Given the description of an element on the screen output the (x, y) to click on. 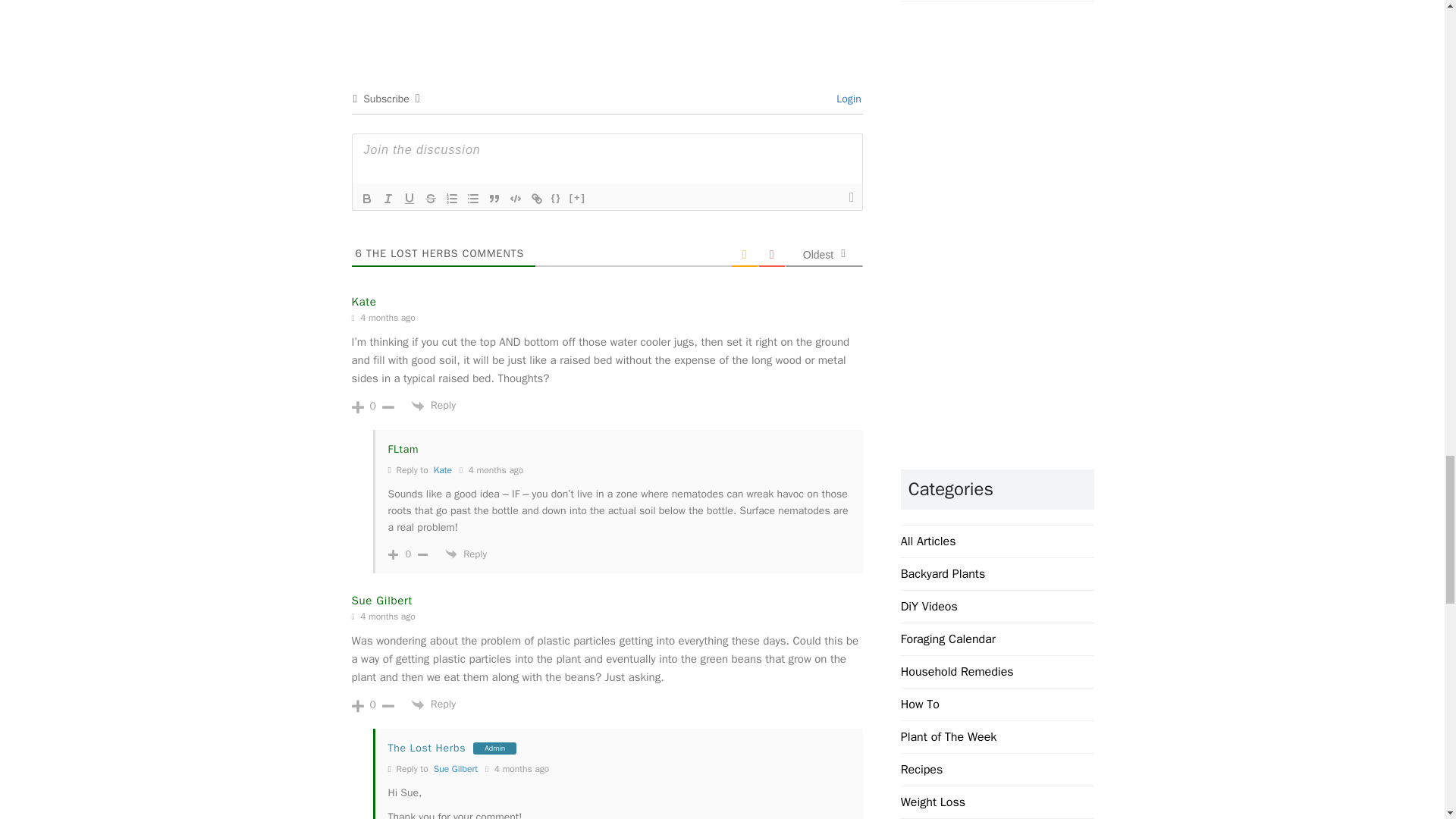
Link (536, 198)
Bold (366, 198)
Kate (442, 469)
Login (846, 98)
Source Code (556, 198)
Strike (430, 198)
Code Block (515, 198)
Italic (387, 198)
Unordered List (473, 198)
Ordered List (452, 198)
